Given the description of an element on the screen output the (x, y) to click on. 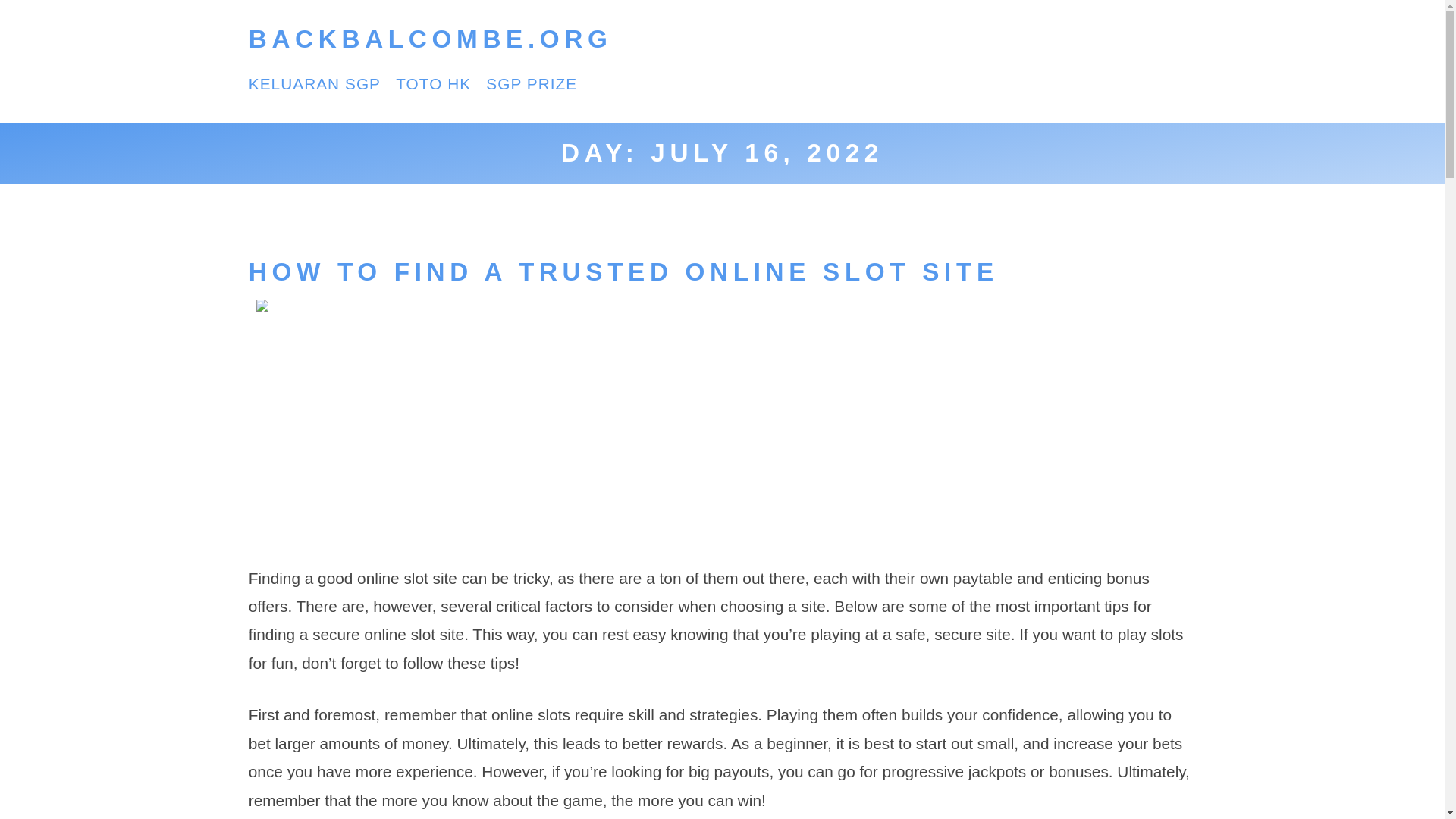
SGP PRIZE (531, 83)
BACKBALCOMBE.ORG (430, 39)
KELUARAN SGP (314, 83)
HOW TO FIND A TRUSTED ONLINE SLOT SITE (623, 271)
TOTO HK (433, 83)
